Given the description of an element on the screen output the (x, y) to click on. 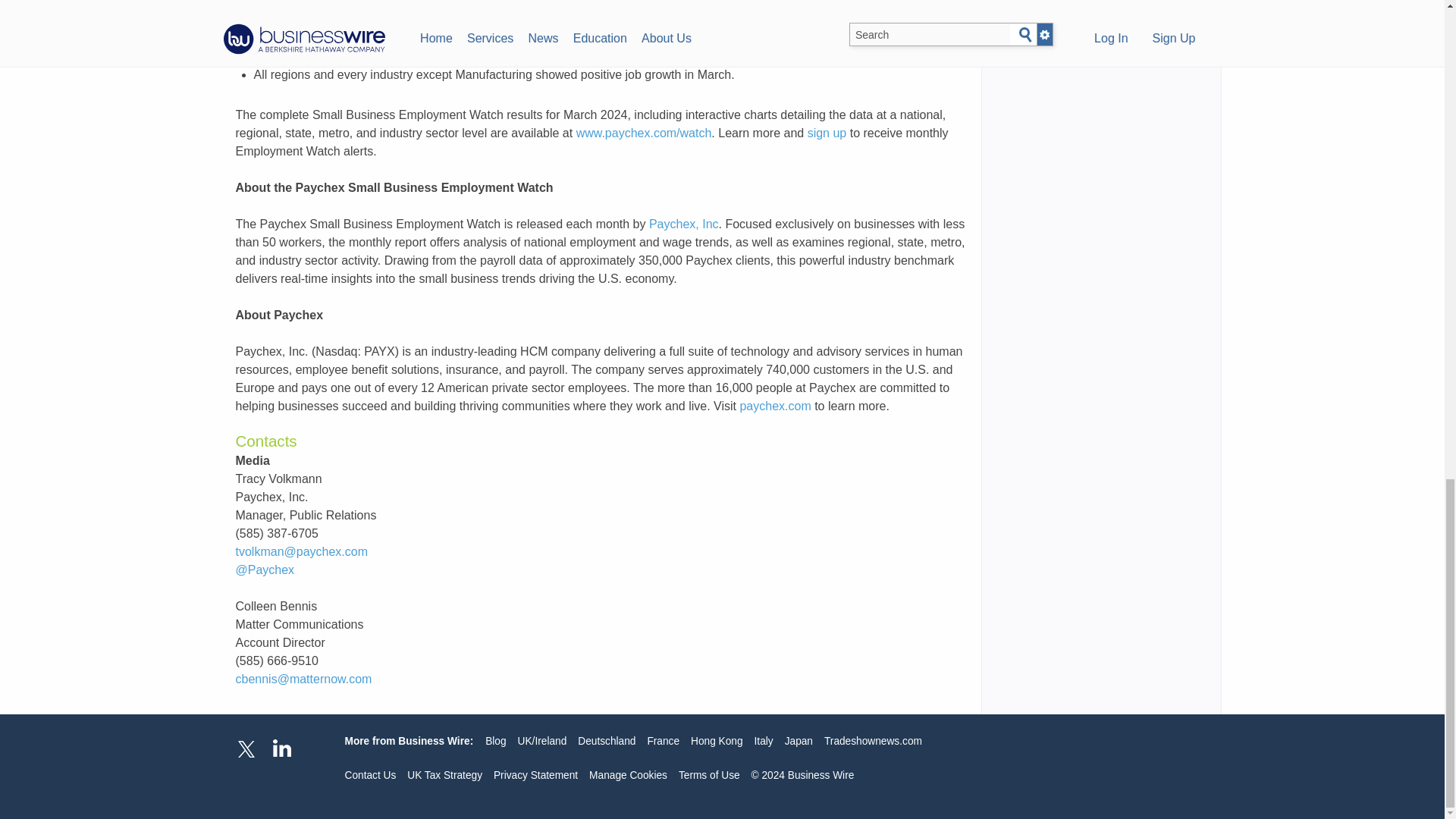
paychex.com (774, 405)
Paychex, Inc (684, 223)
sign up (827, 132)
